Given the description of an element on the screen output the (x, y) to click on. 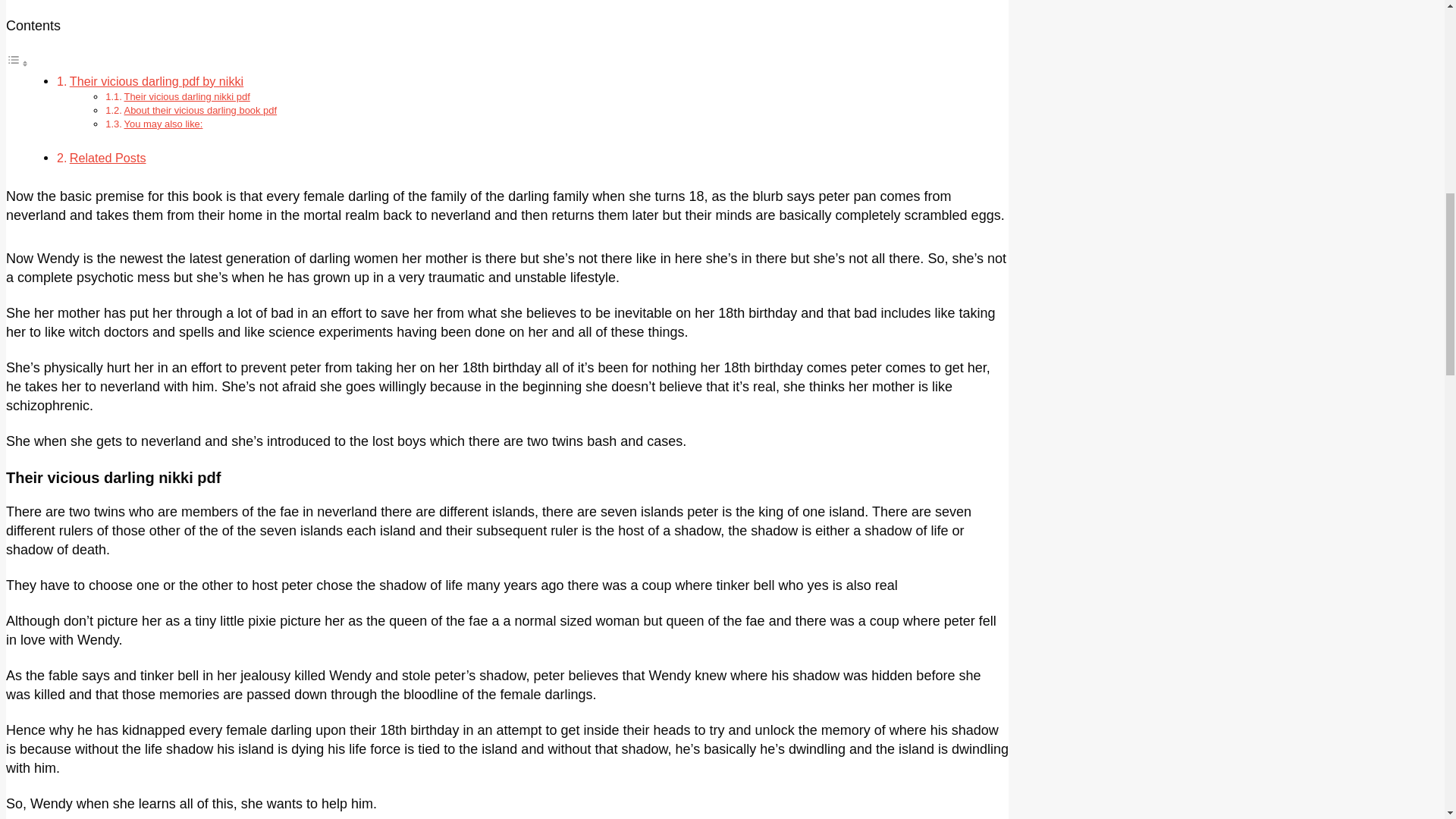
Their vicious darling pdf by nikki (156, 80)
Their vicious darling nikki pdf (186, 96)
Related Posts (108, 157)
Their vicious darling nikki pdf (186, 96)
About their vicious darling book pdf (200, 110)
About their vicious darling book pdf (200, 110)
You may also like: (163, 123)
Related Posts (108, 157)
Their vicious darling pdf by nikki (156, 80)
You may also like: (163, 123)
